Given the description of an element on the screen output the (x, y) to click on. 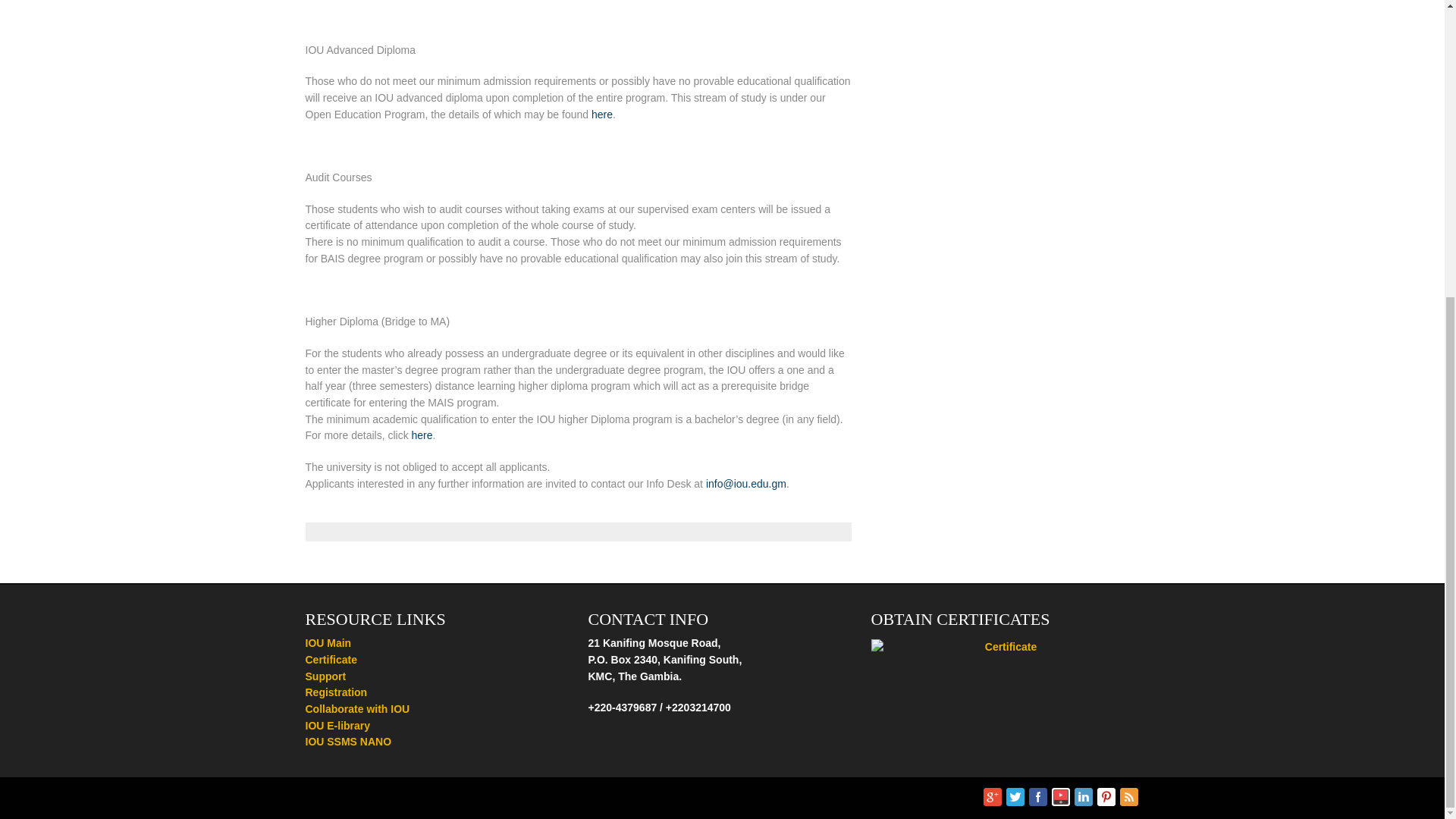
IOU Main (327, 643)
here (601, 114)
IOU E-library (336, 725)
Registration (335, 692)
IOU SSMS NANO (347, 741)
Support (325, 676)
Collaborate with IOU (356, 708)
here (422, 435)
Certificate (330, 659)
